Given the description of an element on the screen output the (x, y) to click on. 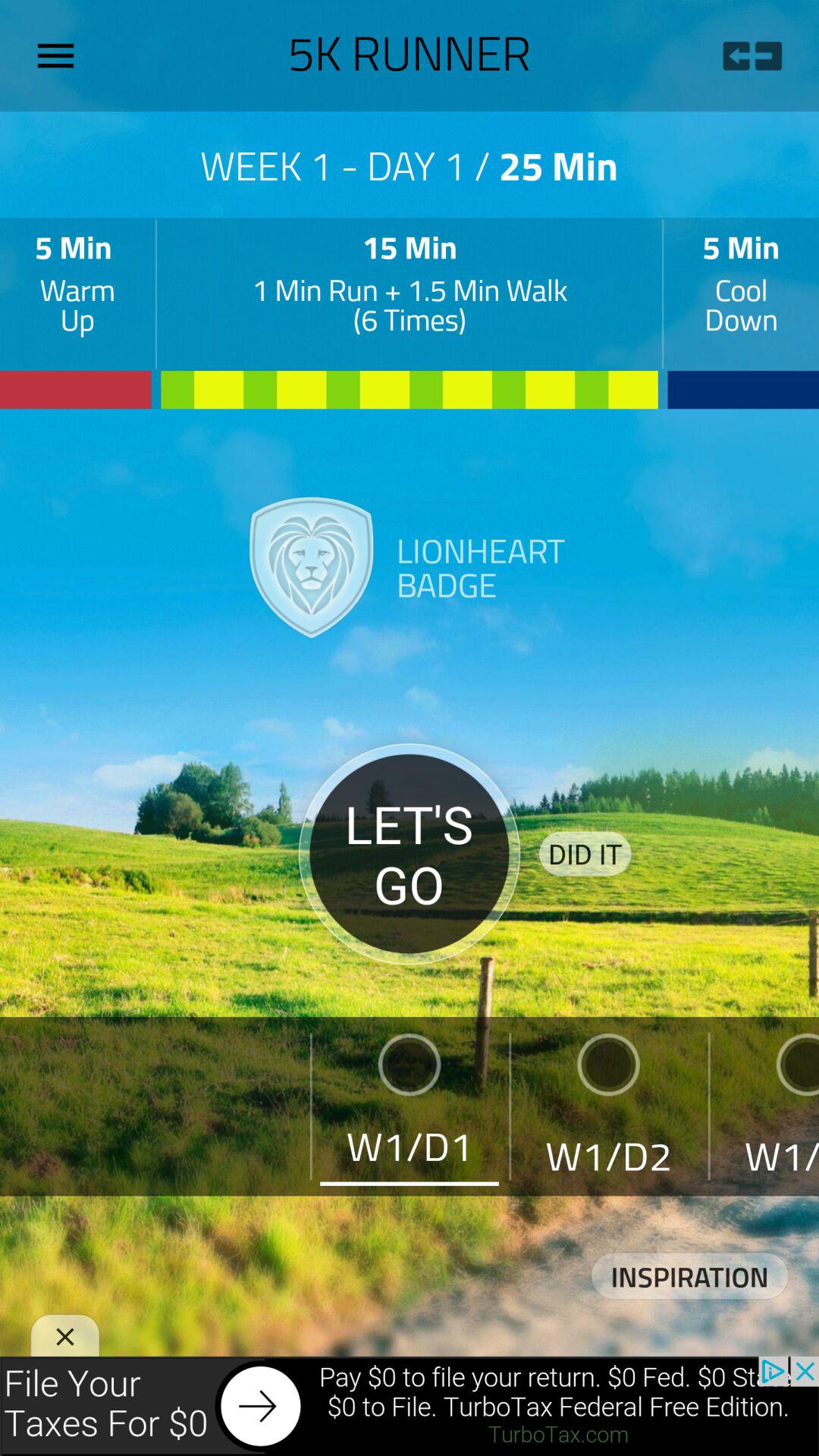
open menu (61, 55)
